Given the description of an element on the screen output the (x, y) to click on. 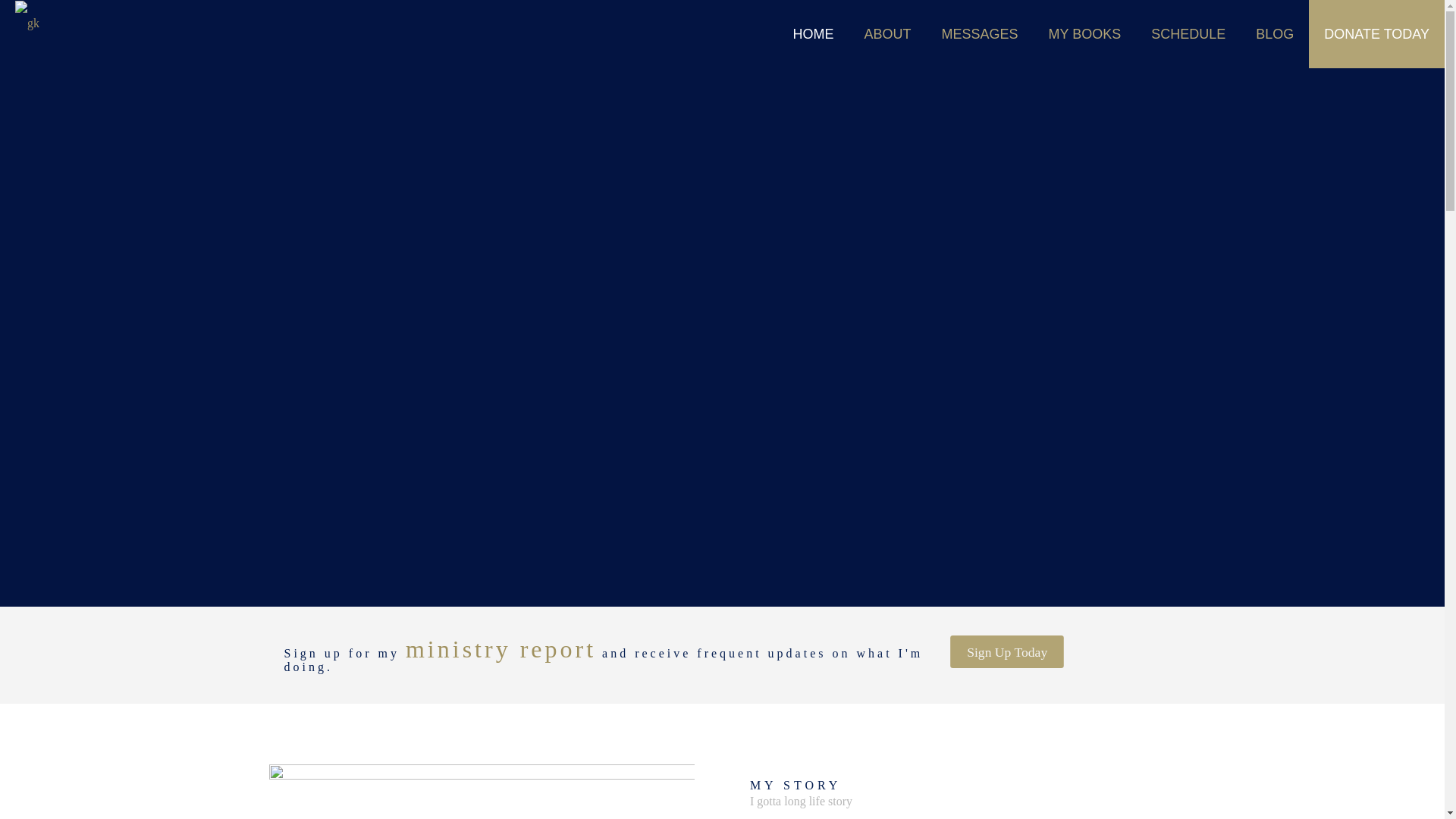
BLOG (606, 633)
MY BOOKS (1274, 33)
MY BOOKS (1085, 33)
HOME (606, 480)
ABOUT (606, 683)
ABOUT (836, 558)
